Given the description of an element on the screen output the (x, y) to click on. 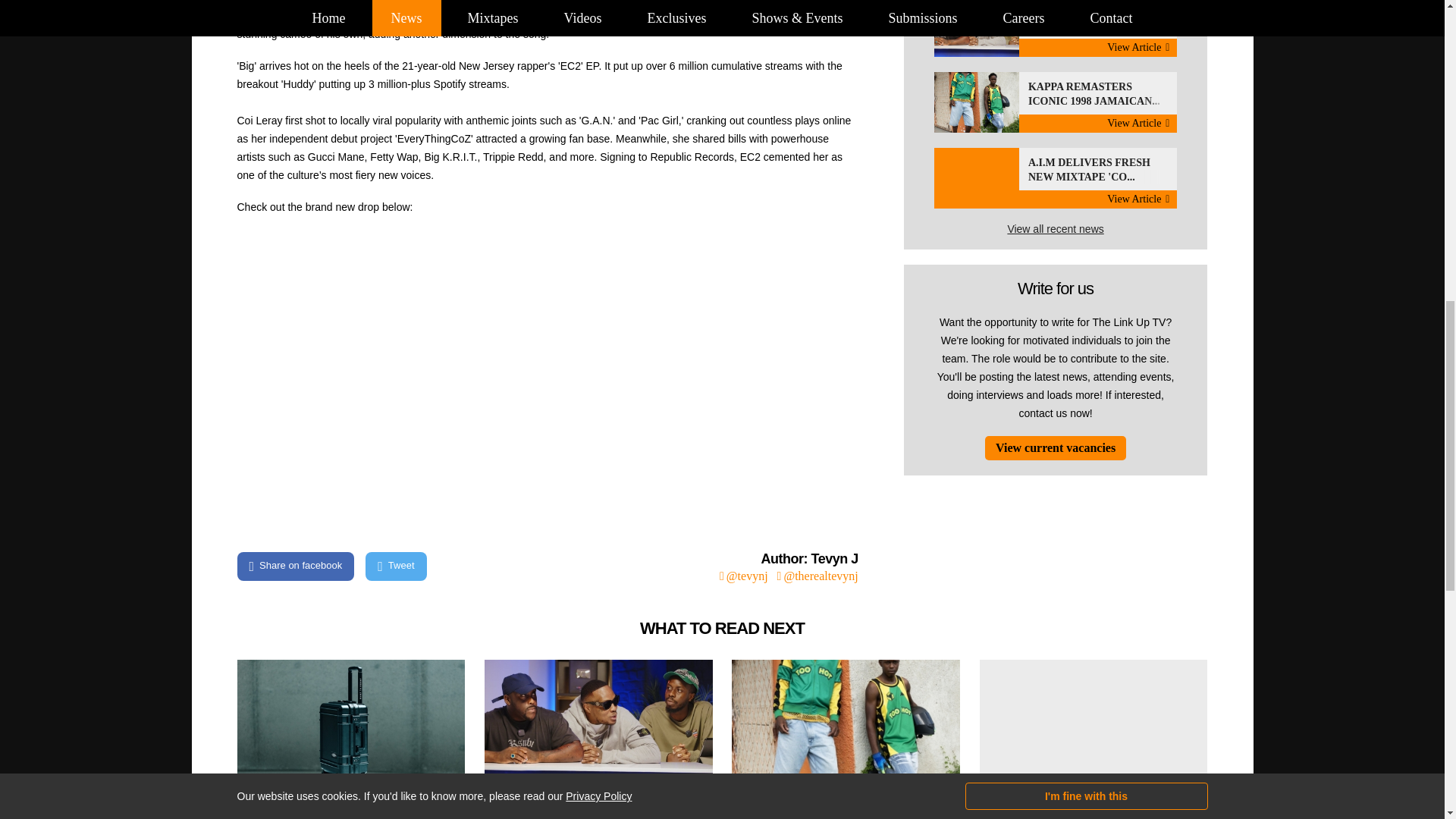
Share on facebook (1055, 28)
Tweet (1055, 178)
